Given the description of an element on the screen output the (x, y) to click on. 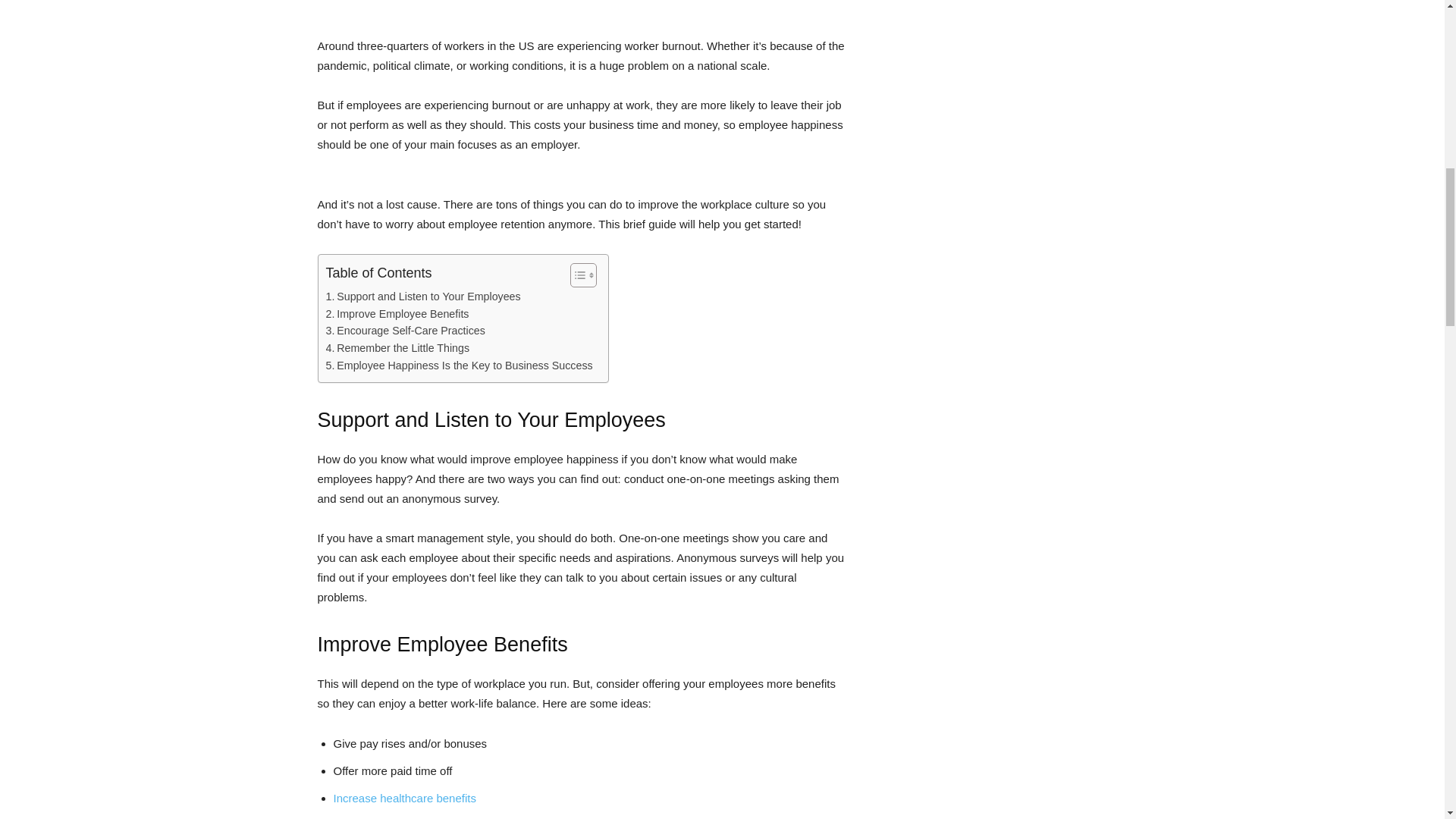
Improve Employee Benefits (397, 313)
Advertisement (580, 10)
Encourage Self-Care Practices (405, 330)
Support and Listen to Your Employees (423, 296)
Employee Happiness Is the Key to Business Success (459, 365)
Remember the Little Things (398, 348)
